Given the description of an element on the screen output the (x, y) to click on. 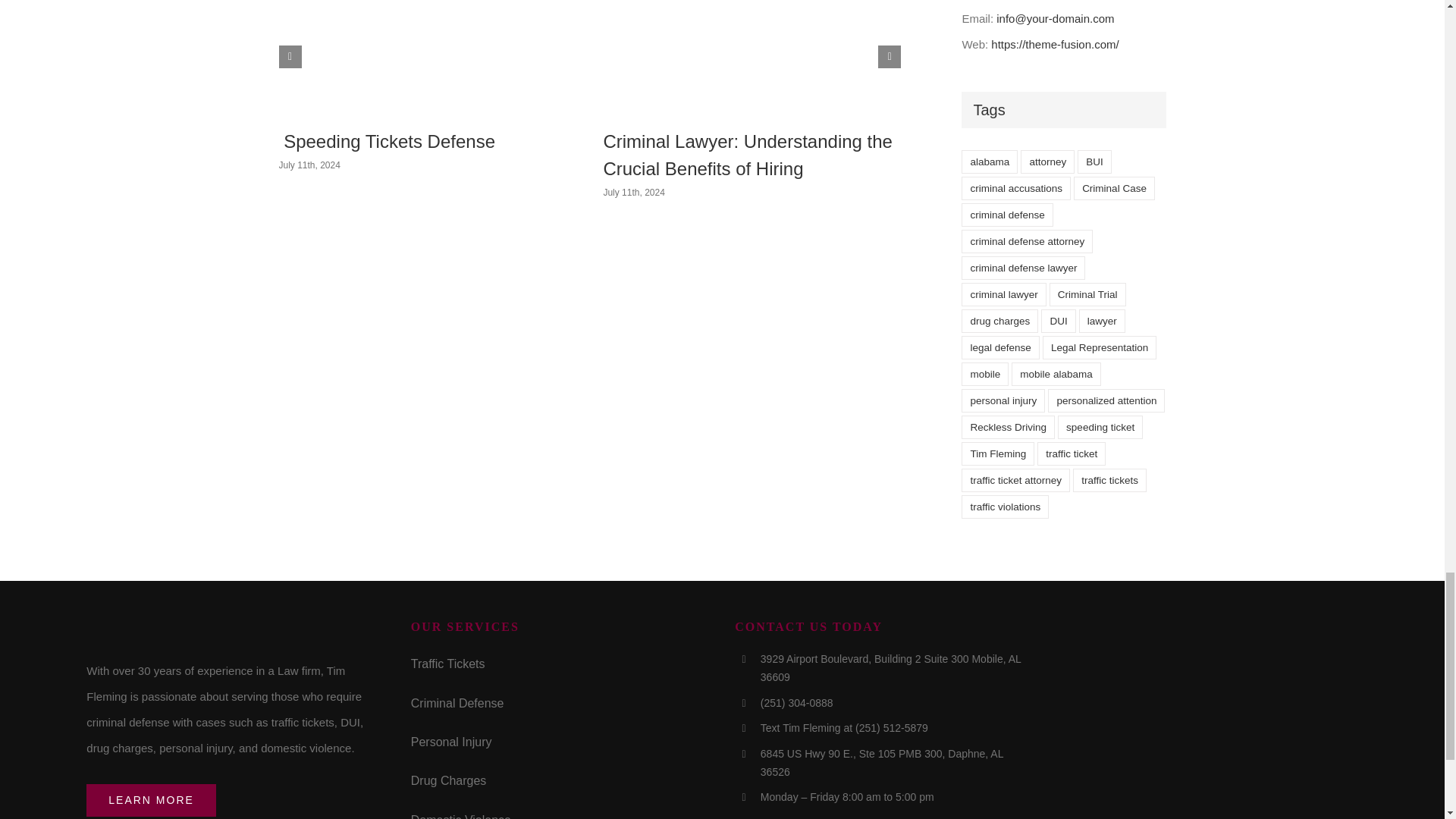
Tim Fleming Law Firm (199, 630)
 Speeding Tickets Defense (387, 141)
